Given the description of an element on the screen output the (x, y) to click on. 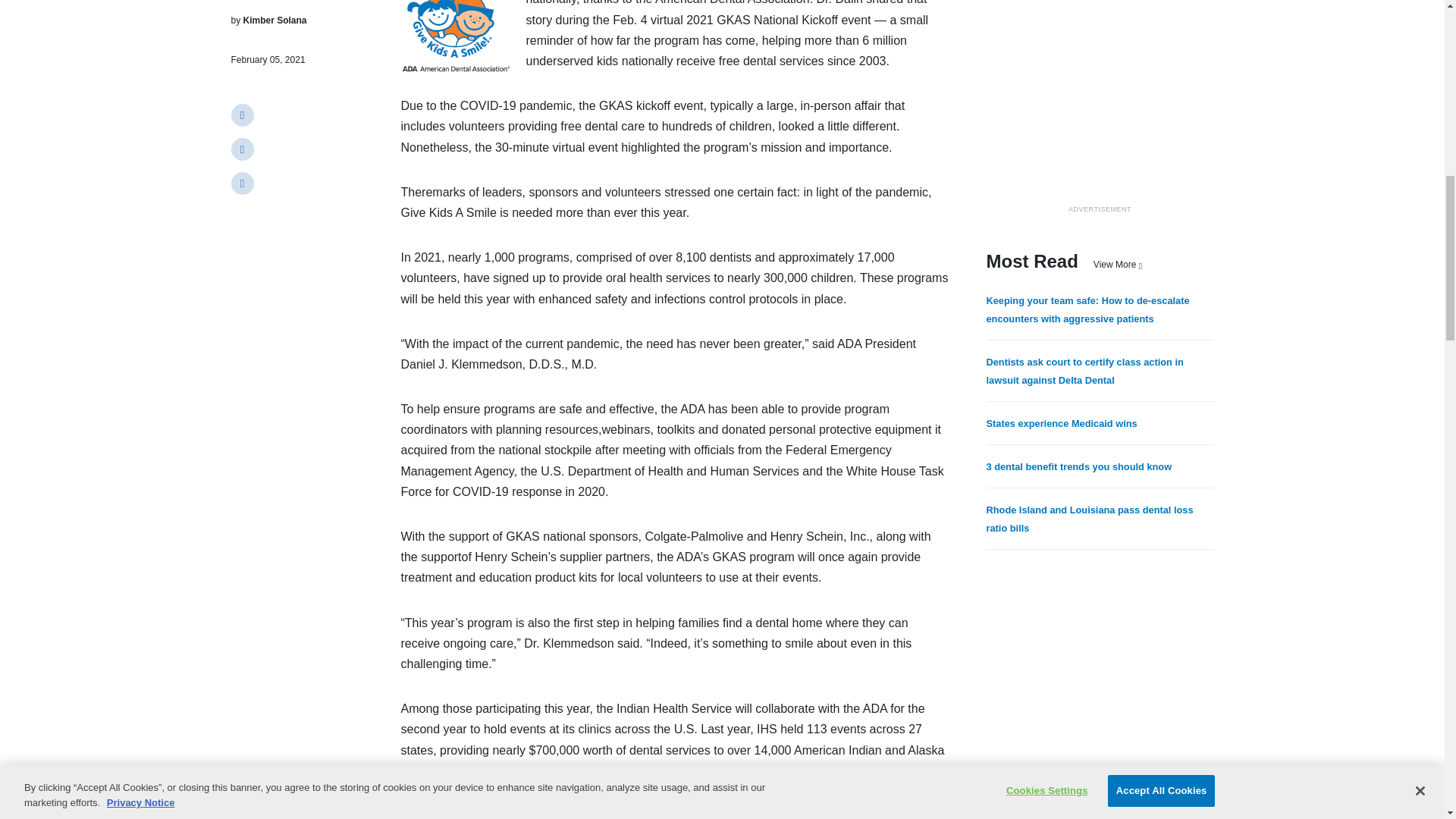
3rd party ad content (1098, 104)
